Given the description of an element on the screen output the (x, y) to click on. 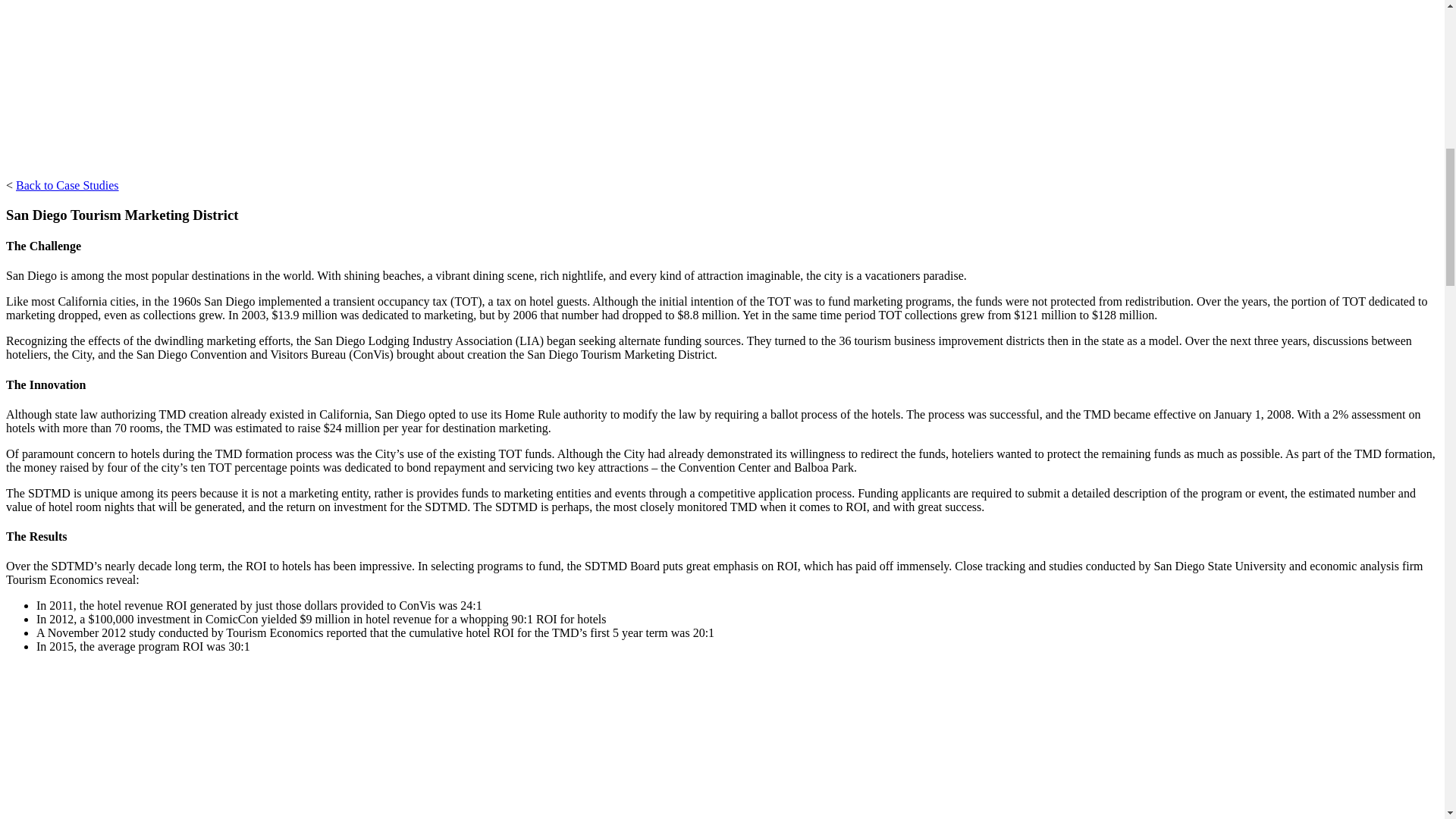
Back to Case Studies (67, 185)
